Given the description of an element on the screen output the (x, y) to click on. 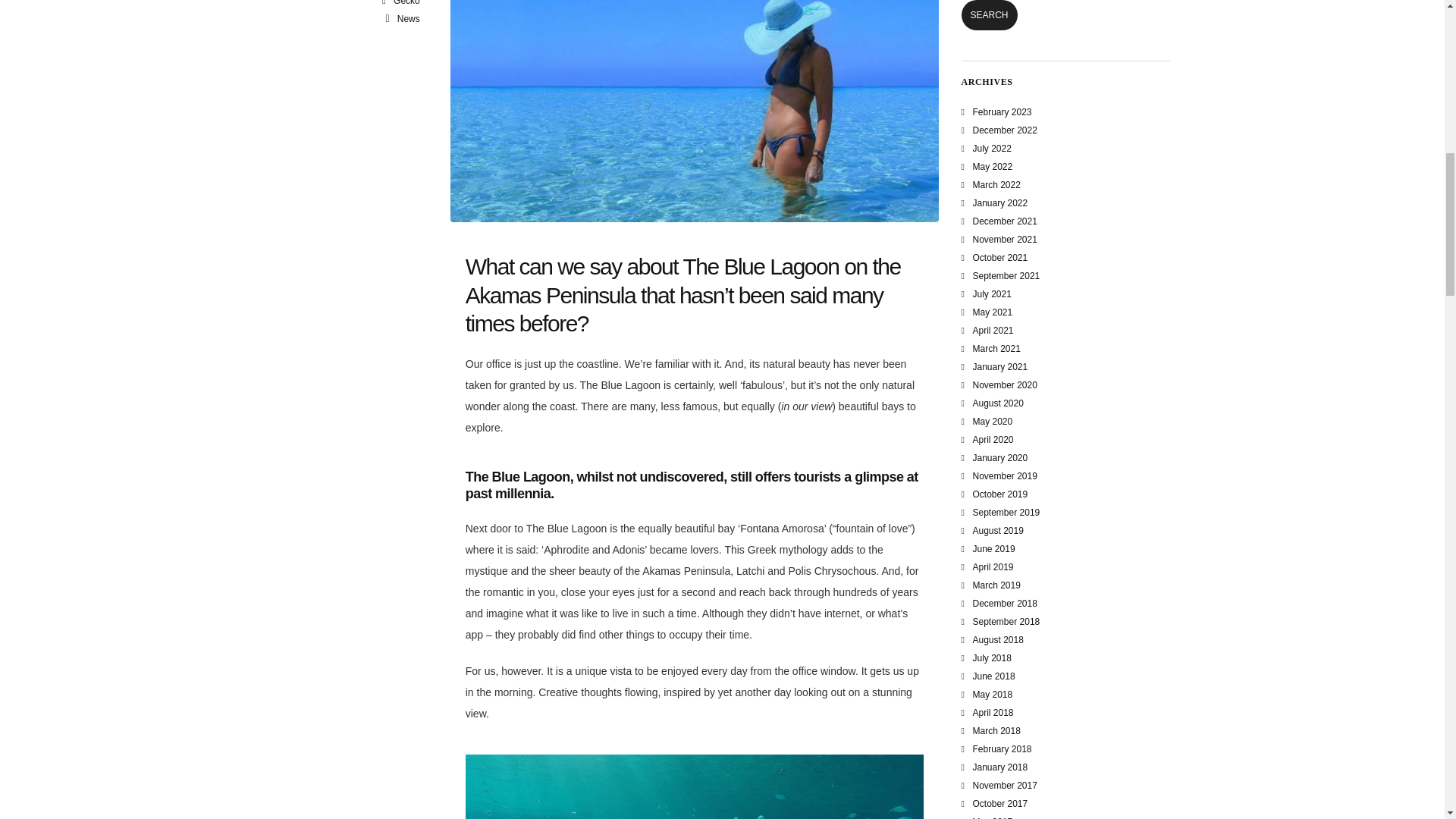
Search (988, 15)
Gecko (406, 2)
Search (988, 15)
Posts by gecko (406, 2)
News (408, 18)
